Given the description of an element on the screen output the (x, y) to click on. 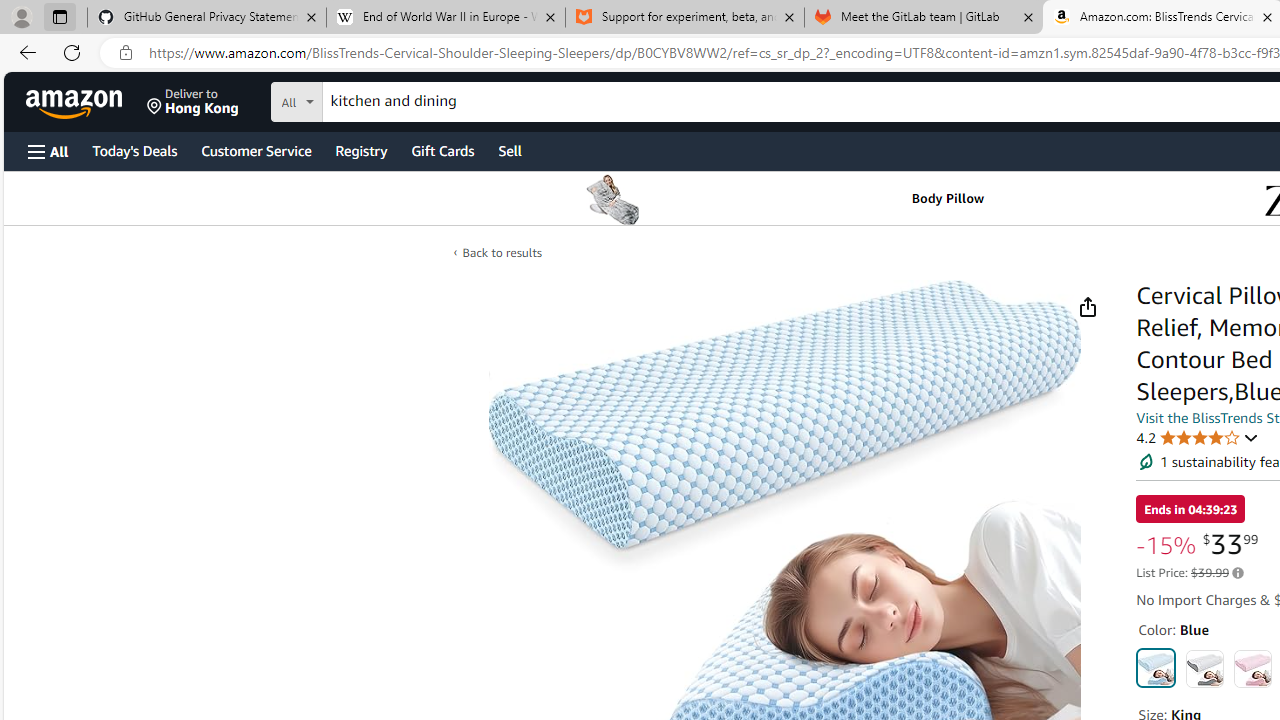
End of World War II in Europe - Wikipedia (445, 17)
Customer Service (256, 150)
Registry (360, 150)
Back to results (501, 252)
Amazon (76, 101)
Grey (1204, 668)
Pink (1252, 668)
Search in (371, 99)
Deliver to Hong Kong (193, 101)
Learn more about Amazon pricing and savings (1238, 573)
